Given the description of an element on the screen output the (x, y) to click on. 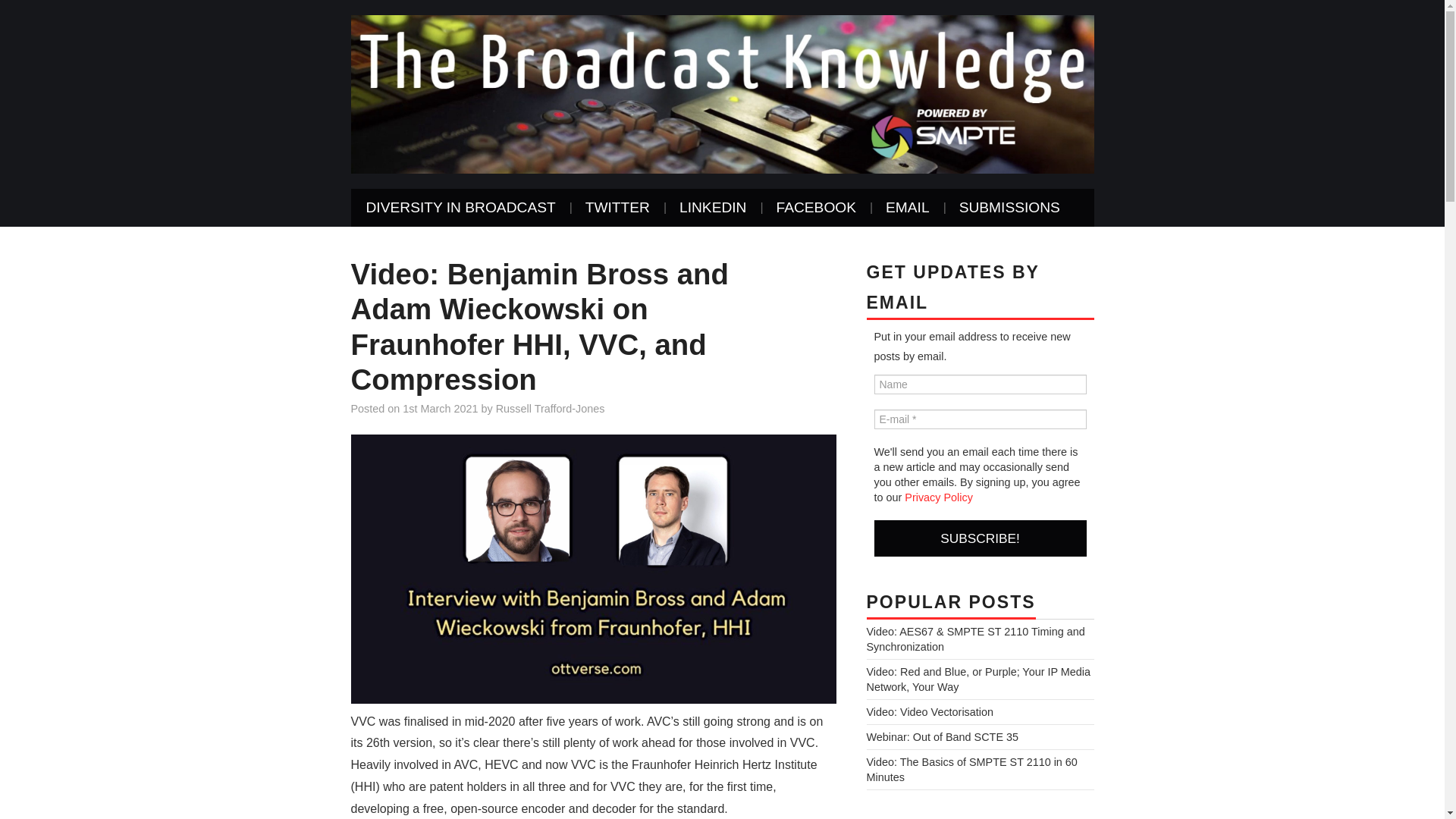
EMAIL (907, 207)
Subscribe! (979, 538)
DIVERSITY IN BROADCAST (460, 207)
SUBMISSIONS (1009, 207)
View all posts by Russell Trafford-Jones (550, 408)
Name (979, 383)
06:33 (440, 408)
FACEBOOK (815, 207)
1st March 2021 (440, 408)
LINKEDIN (712, 207)
Russell Trafford-Jones (550, 408)
The Broadcast Knowledge (721, 92)
TWITTER (617, 207)
E-mail (979, 419)
